Given the description of an element on the screen output the (x, y) to click on. 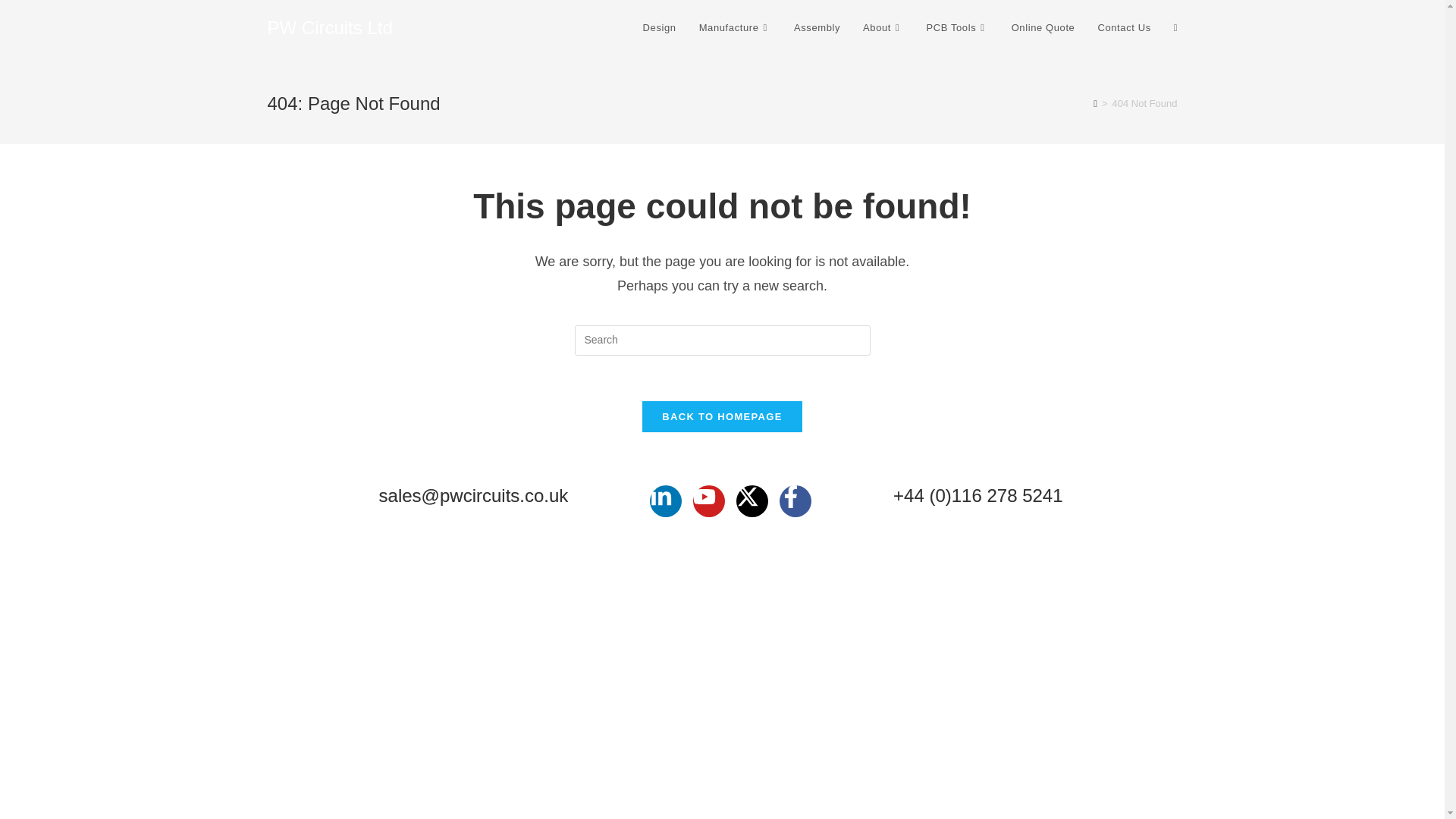
Assembly (817, 28)
PW Circuits Ltd (328, 27)
About (882, 28)
Design (659, 28)
Manufacture (735, 28)
